Given the description of an element on the screen output the (x, y) to click on. 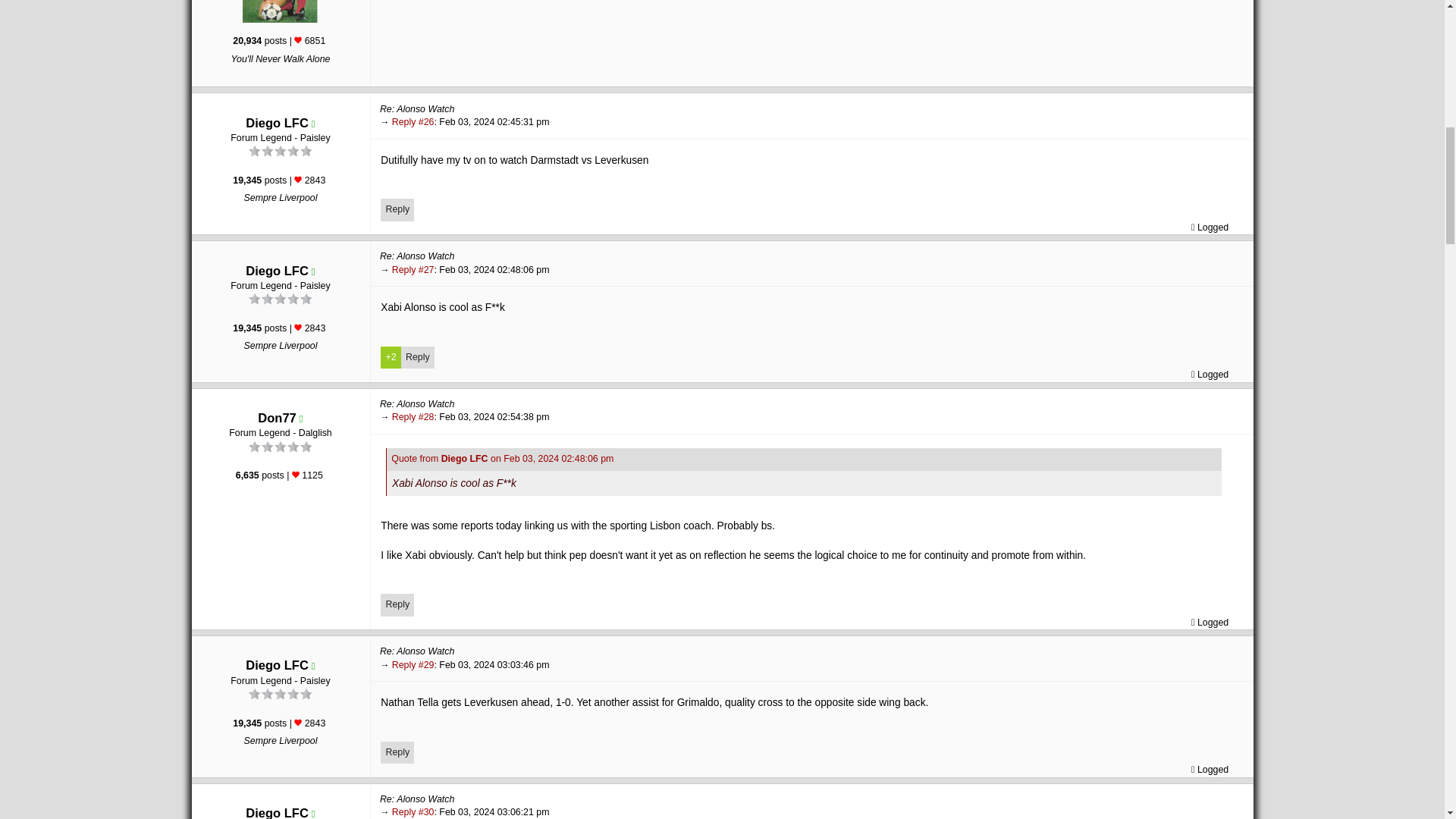
Post Rating (297, 179)
View the profile of Diego LFC (277, 122)
View the profile of Diego LFC (277, 812)
Post Rating (297, 40)
Post Rating (295, 474)
View the profile of Diego LFC (277, 270)
Post Rating (297, 327)
View the profile of Don77 (276, 418)
View the profile of Diego LFC (277, 664)
Post Rating (297, 722)
